Given the description of an element on the screen output the (x, y) to click on. 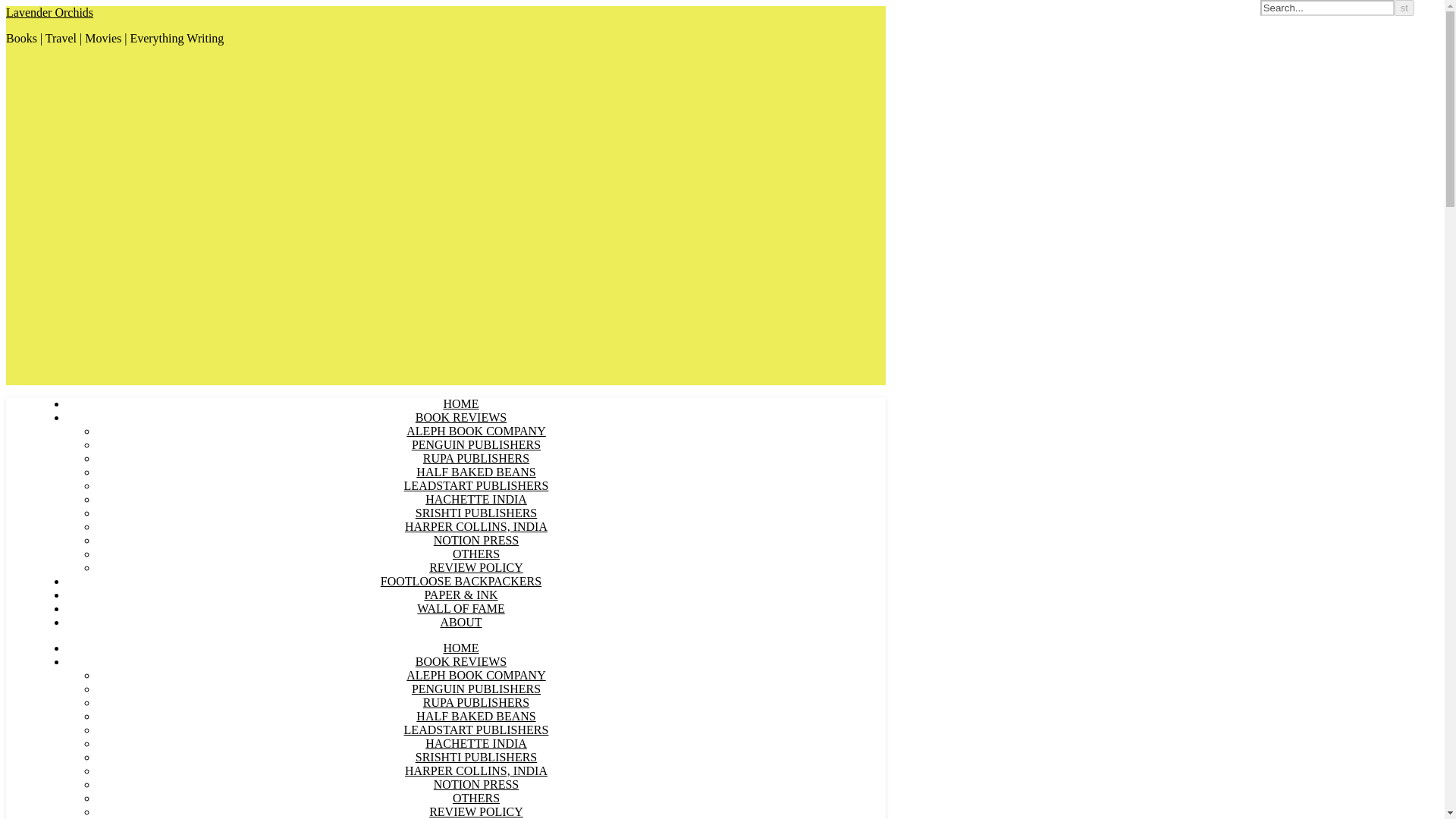
SRISHTI PUBLISHERS (475, 512)
BOOK REVIEWS (460, 661)
st (1403, 7)
HOME (460, 403)
ABOUT (460, 621)
FOOTLOOSE BACKPACKERS (460, 581)
PENGUIN PUBLISHERS (476, 688)
REVIEW POLICY (475, 811)
ALEPH BOOK COMPANY (475, 431)
REVIEW POLICY (475, 567)
SRISHTI PUBLISHERS (475, 757)
NOTION PRESS (475, 784)
NOTION PRESS (475, 540)
HALF BAKED BEANS (475, 716)
LEADSTART PUBLISHERS (476, 729)
